Given the description of an element on the screen output the (x, y) to click on. 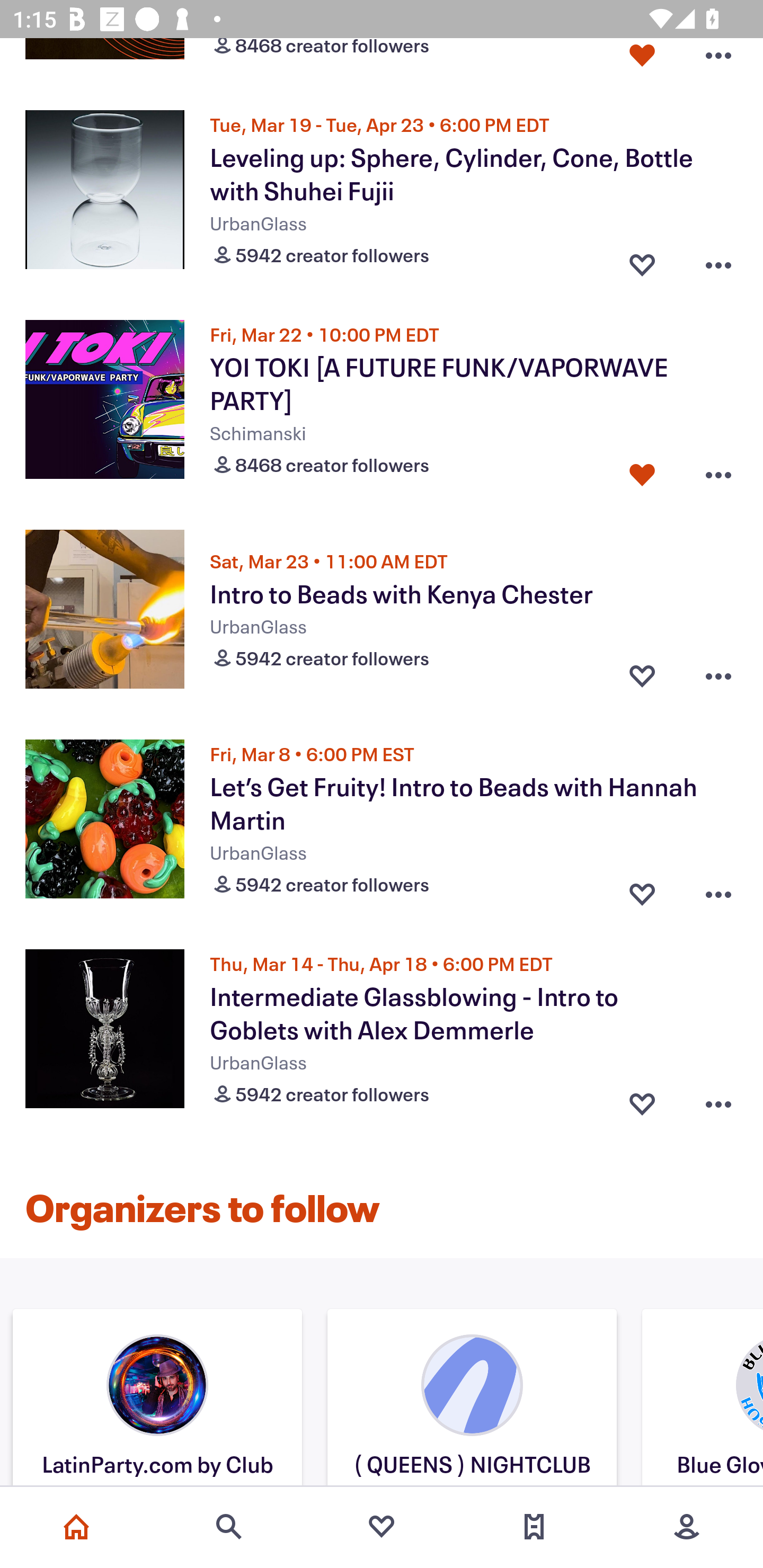
Favorite button (642, 60)
Overflow menu button (718, 60)
Favorite button (642, 260)
Overflow menu button (718, 260)
Favorite button (642, 470)
Overflow menu button (718, 470)
Favorite button (642, 675)
Overflow menu button (718, 675)
Favorite button (642, 889)
Overflow menu button (718, 889)
Favorite button (642, 1099)
Overflow menu button (718, 1099)
Organizer's image LatinParty.com by Club Cache (157, 1400)
Home (76, 1526)
Search events (228, 1526)
Favorites (381, 1526)
Tickets (533, 1526)
More (686, 1526)
